Given the description of an element on the screen output the (x, y) to click on. 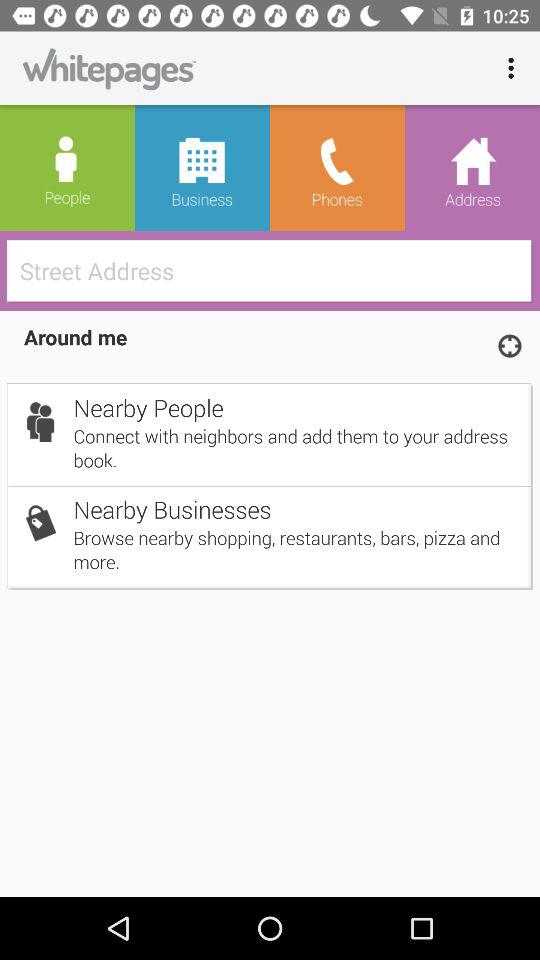
choose the icon above the around me (276, 270)
